Given the description of an element on the screen output the (x, y) to click on. 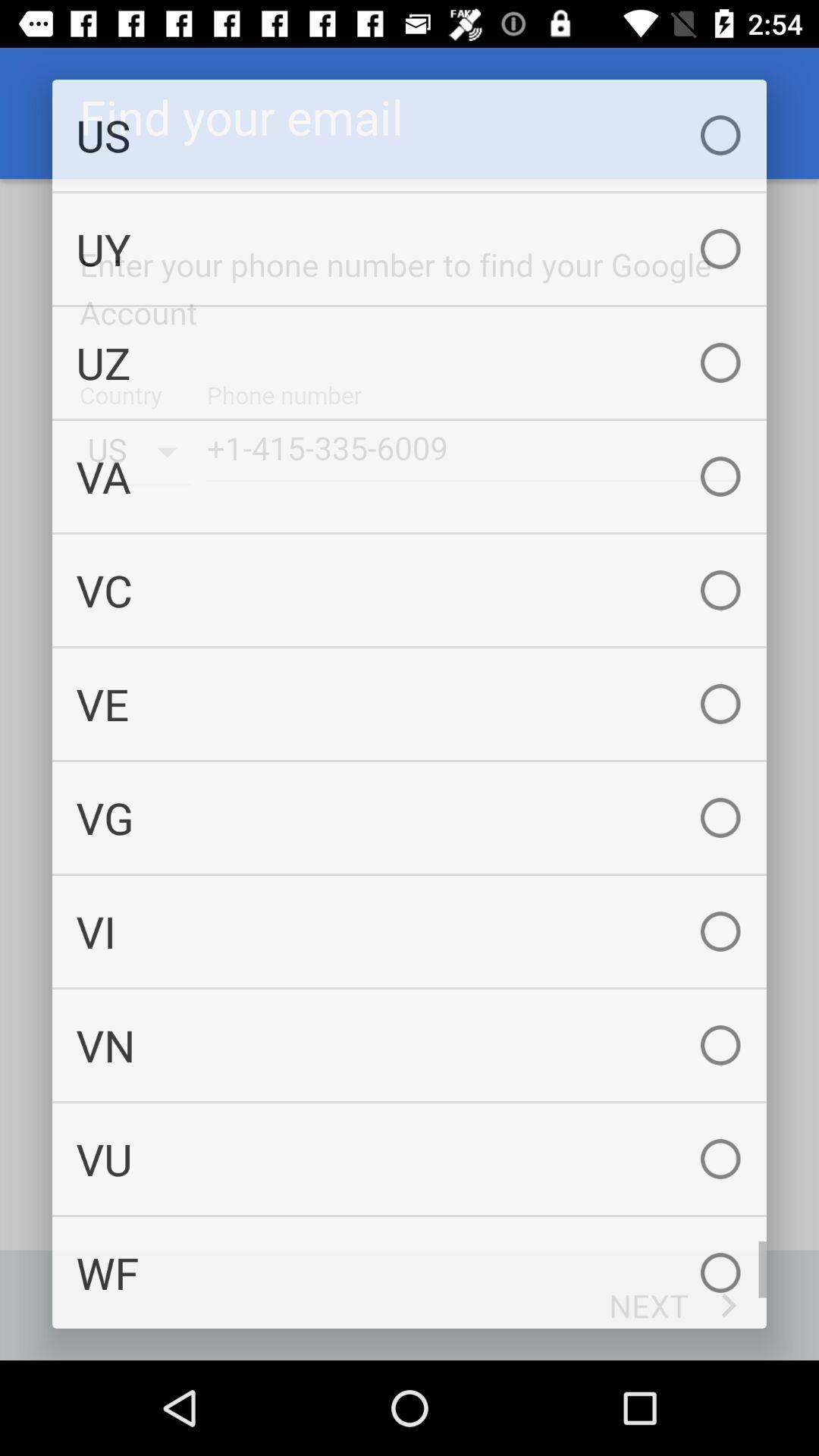
flip to the vc item (409, 590)
